Given the description of an element on the screen output the (x, y) to click on. 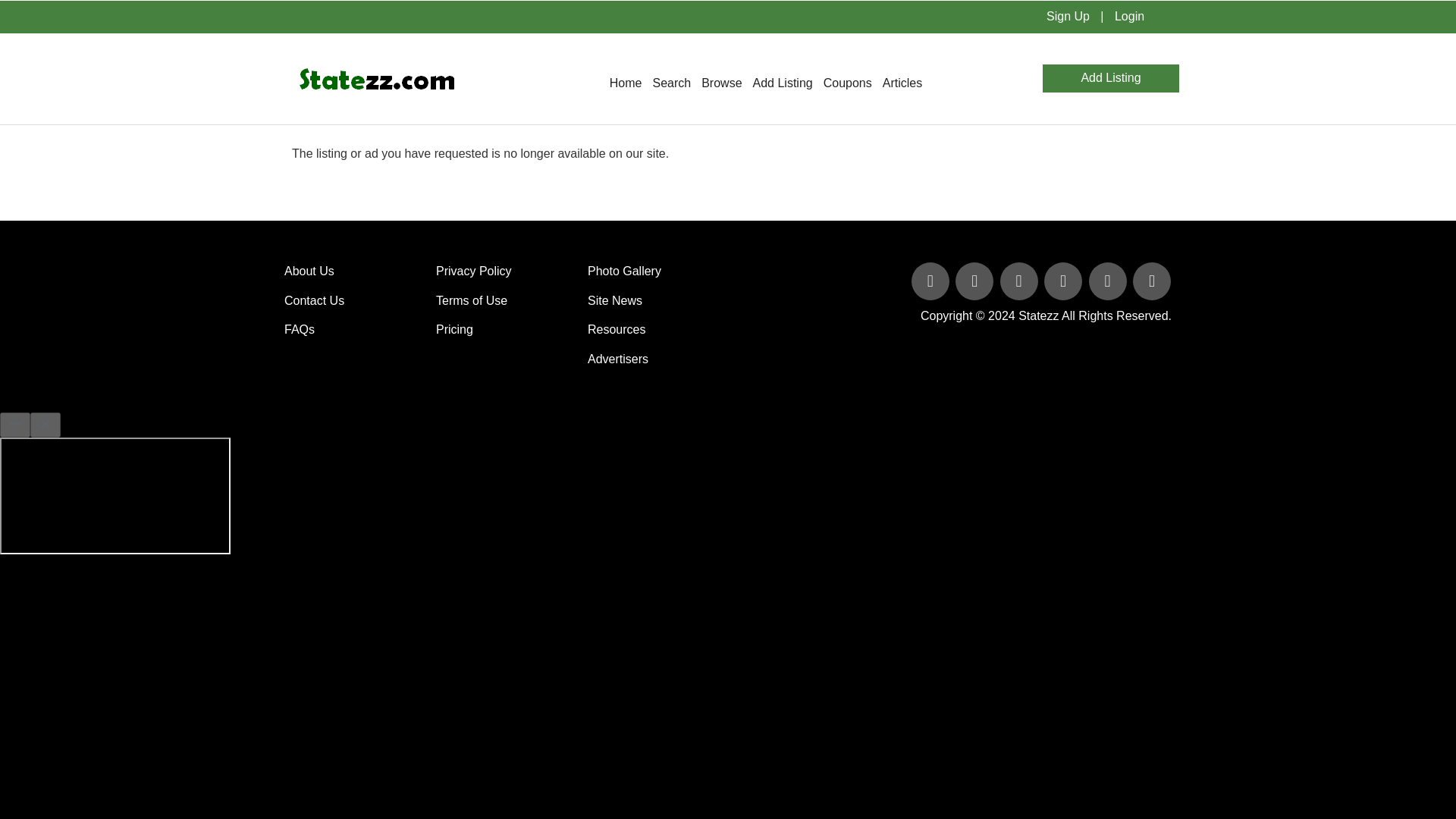
Follow Us on Linked In (1020, 282)
Browse (720, 83)
Follow Us on Facebook (931, 282)
About Us (308, 270)
Statezz.com - National to Local information (375, 78)
Follow Us on You Tube (1064, 282)
Resources (616, 328)
Search (670, 83)
Statezz (1037, 315)
Follow Us on Pinterest (1109, 282)
Coupons (847, 83)
Articles (902, 83)
Login (1128, 15)
Follow Us on Instagram (1151, 282)
Sign Up (1068, 15)
